Given the description of an element on the screen output the (x, y) to click on. 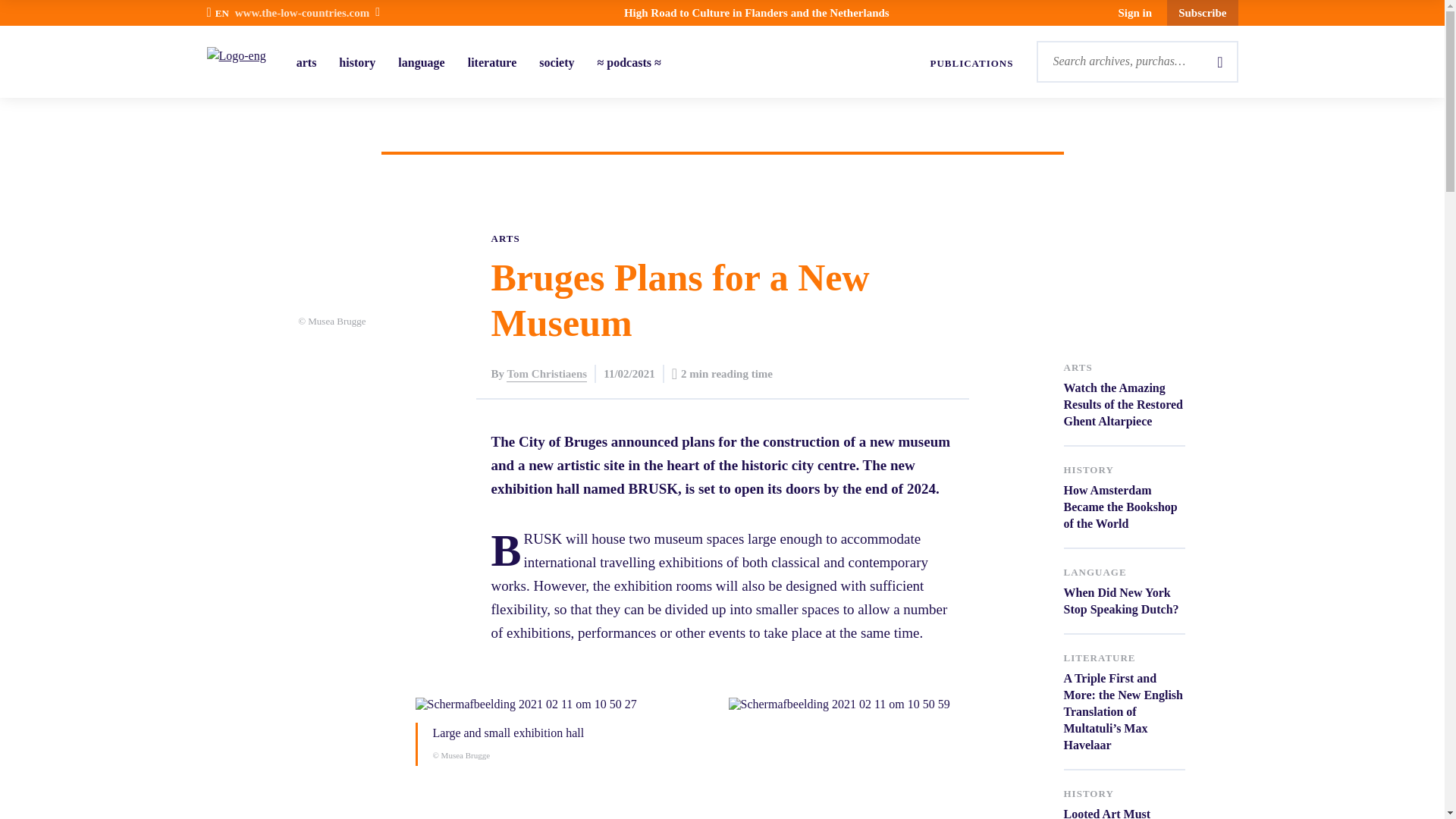
literature (491, 61)
Schermafbeelding 2021 02 11 om 10 50 59 (878, 704)
PUBLICATIONS (1123, 497)
Subscribe (971, 63)
language (1202, 12)
Tom Christiaens (1123, 591)
Sign in (420, 61)
Logo-eng (546, 373)
